Given the description of an element on the screen output the (x, y) to click on. 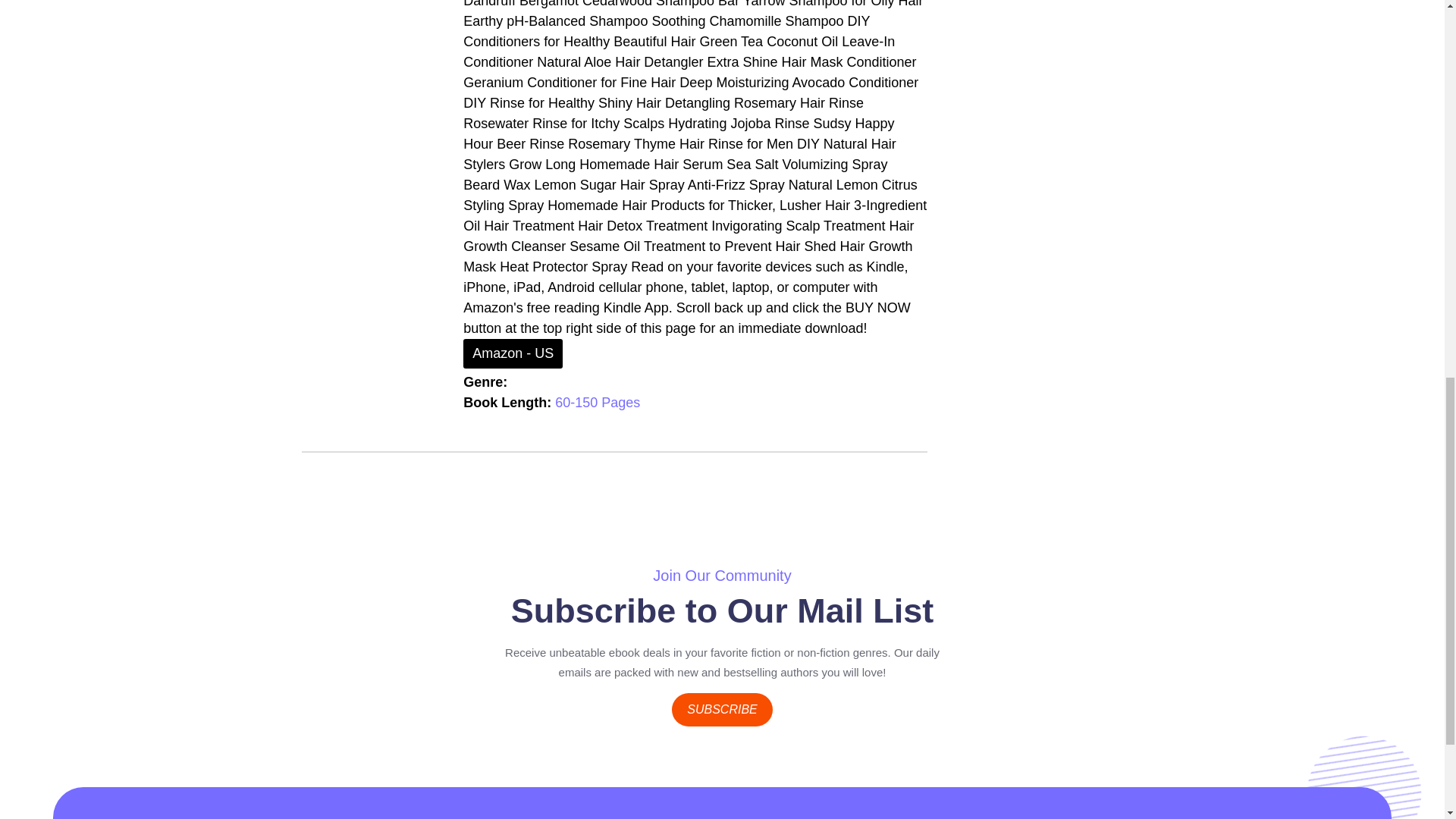
Amazon - US (512, 353)
60-150 Pages (597, 402)
SUBSCRIBE (721, 709)
